Given the description of an element on the screen output the (x, y) to click on. 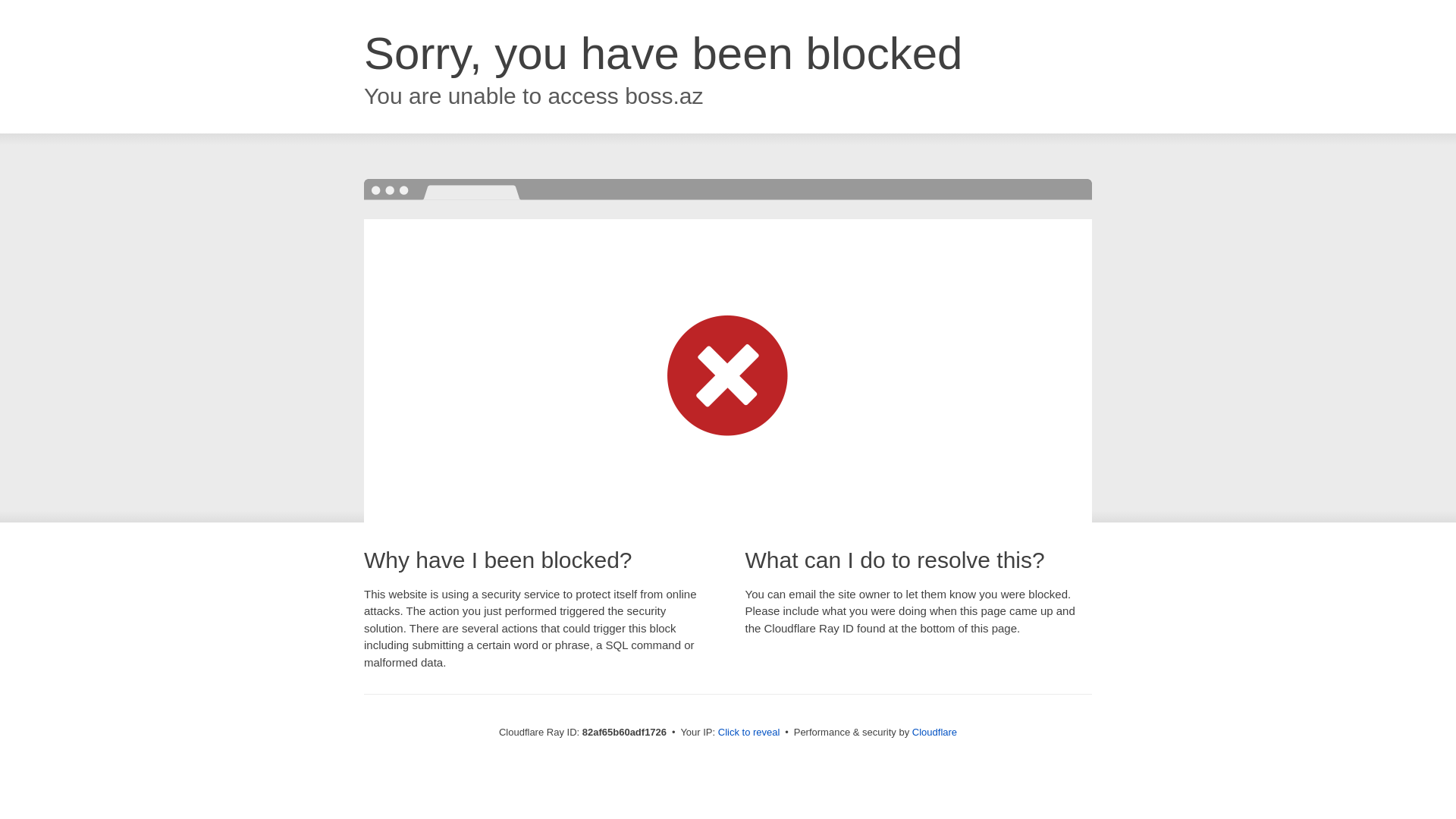
Cloudflare Element type: text (934, 731)
Click to reveal Element type: text (749, 732)
